Given the description of an element on the screen output the (x, y) to click on. 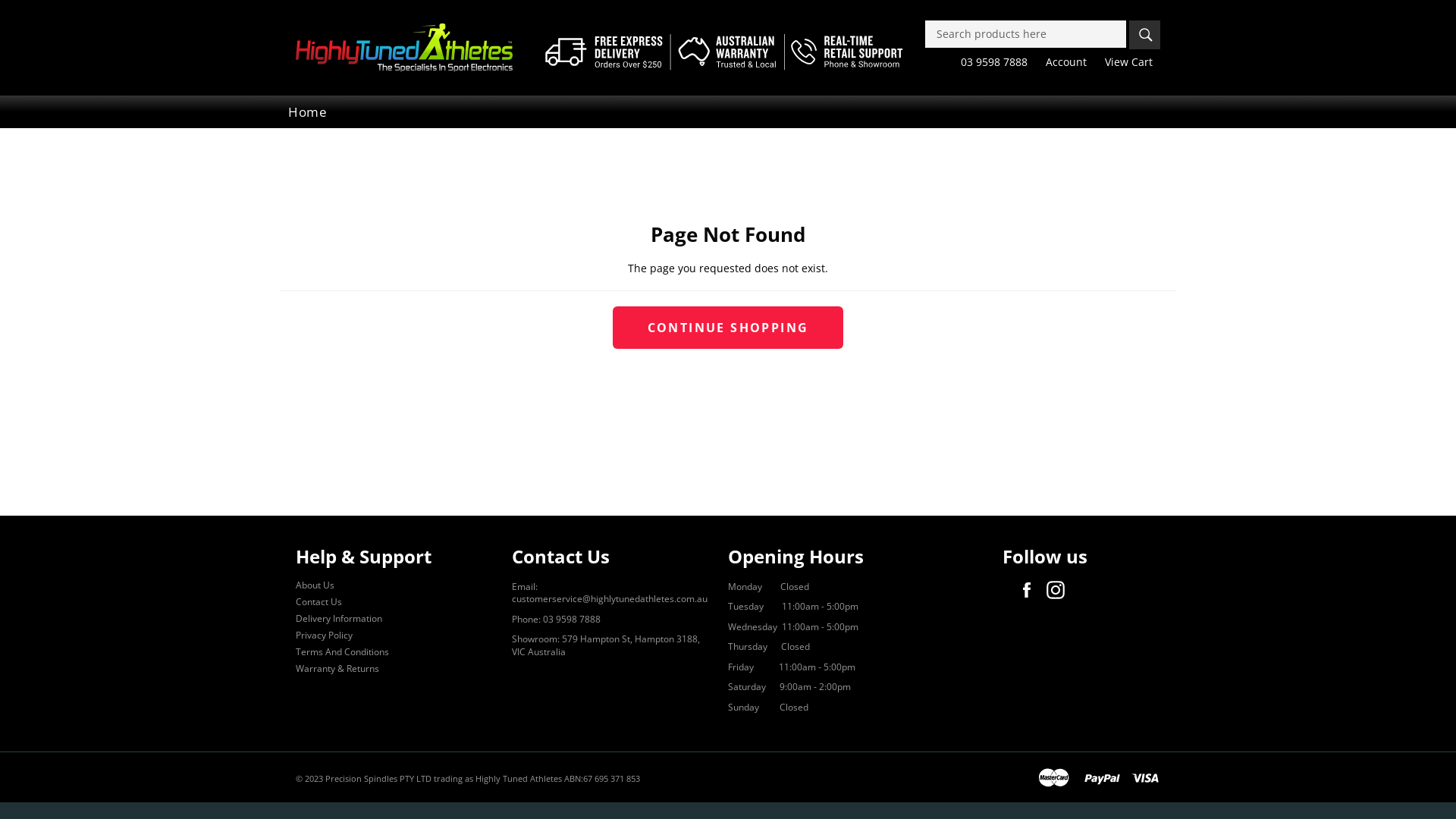
CONTINUE SHOPPING Element type: text (728, 327)
Facebook Element type: text (1030, 589)
About Us Element type: text (314, 584)
Terms And Conditions Element type: text (342, 651)
Delivery Information Element type: text (338, 617)
View Cart
Cart Element type: text (1128, 62)
03 9598 7888 Element type: text (994, 62)
Home Element type: text (307, 111)
Warranty & Returns Element type: text (337, 668)
Contact Us Element type: text (318, 601)
Search Element type: text (1144, 34)
Privacy Policy Element type: text (323, 634)
Instagram Element type: text (1059, 589)
Account Element type: text (1066, 62)
